Given the description of an element on the screen output the (x, y) to click on. 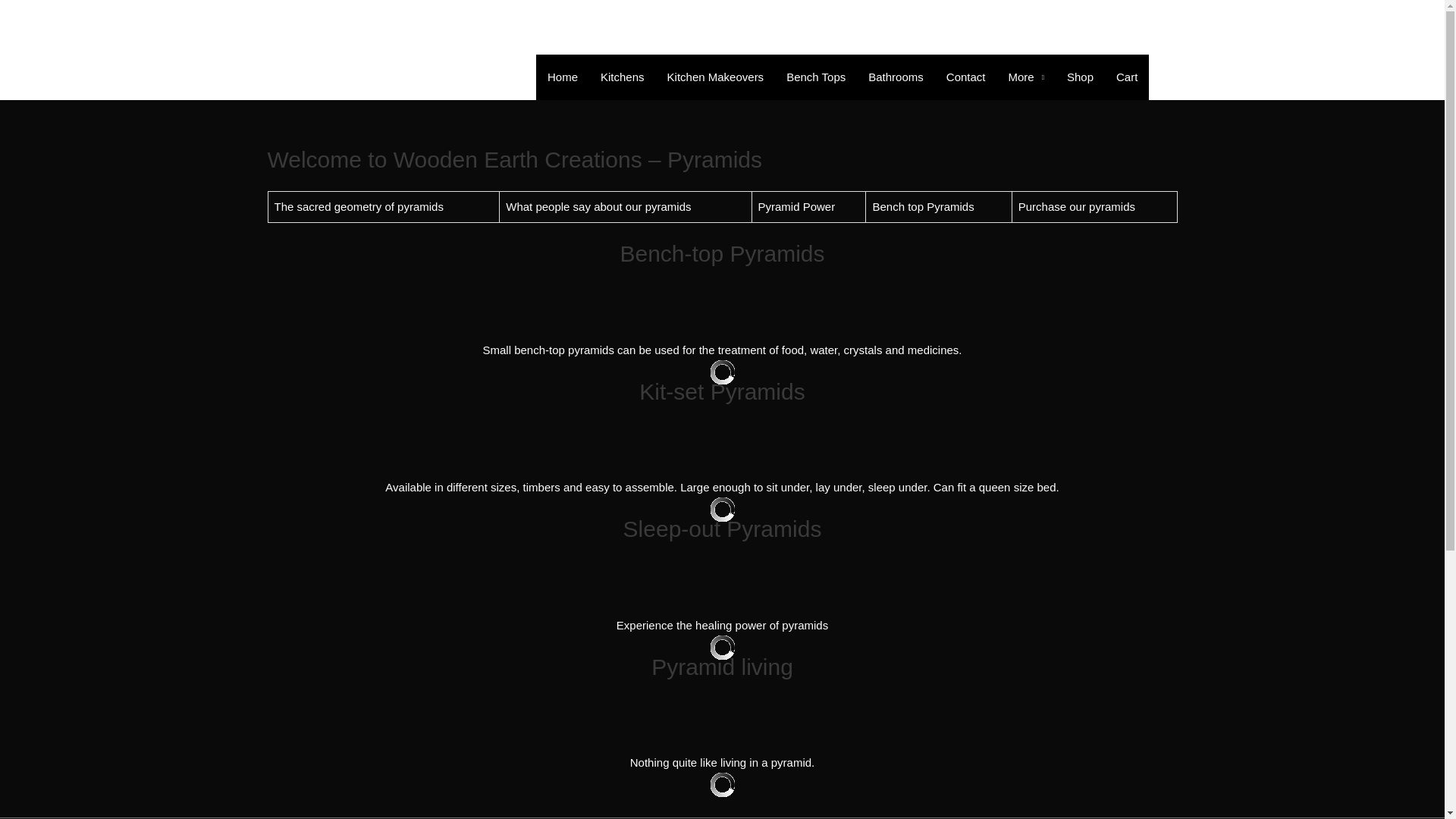
Bench Tops (815, 76)
Kitchen Makeovers (716, 76)
More (1024, 76)
Shop (1080, 76)
Bathrooms (895, 76)
Cart (1126, 76)
Wooden Earth Creations Ltd. (437, 26)
Contact (965, 76)
What people say about our pyramids (597, 205)
Pyramid Power (796, 205)
